Given the description of an element on the screen output the (x, y) to click on. 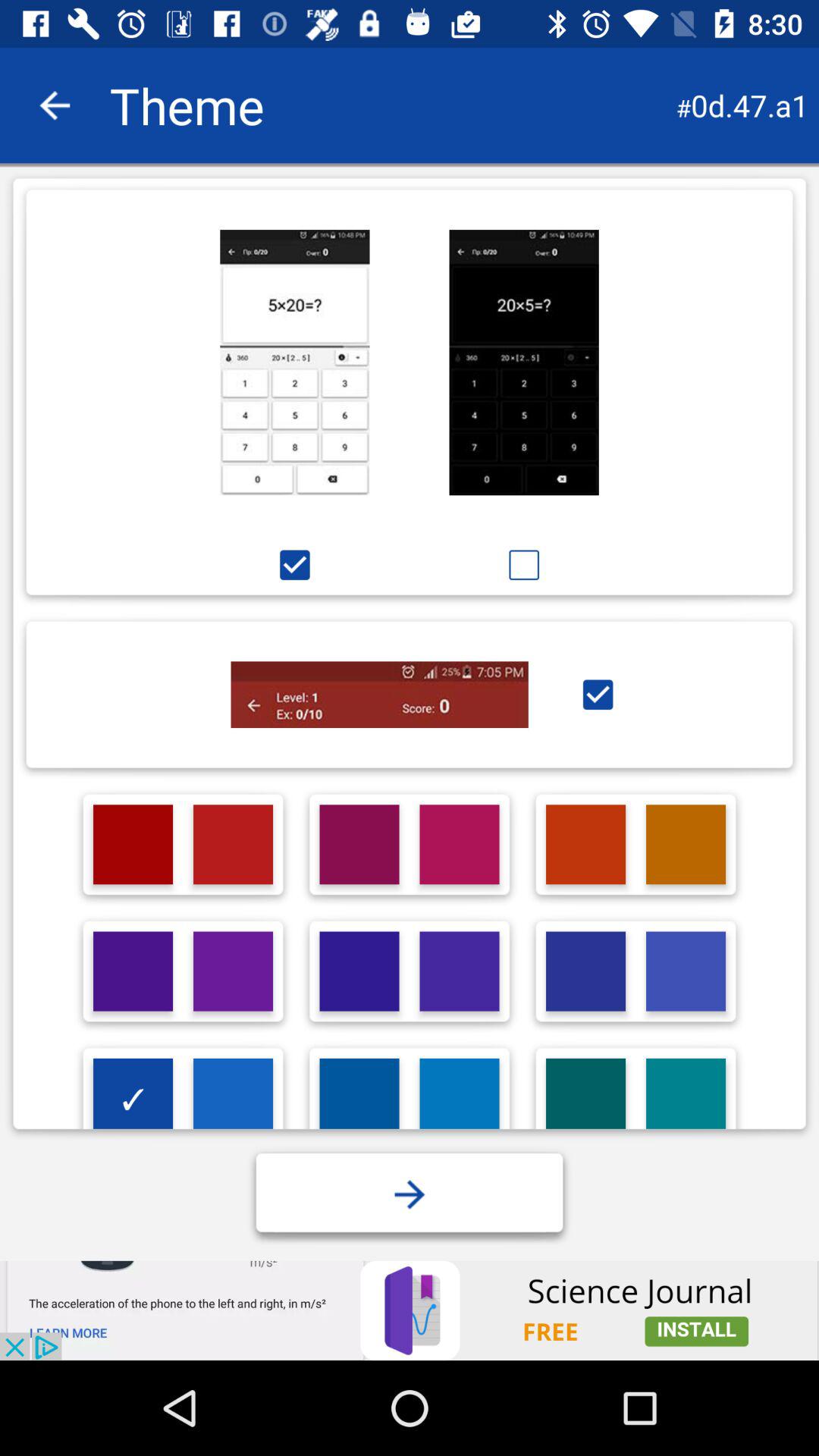
click for black theme (523, 362)
